Given the description of an element on the screen output the (x, y) to click on. 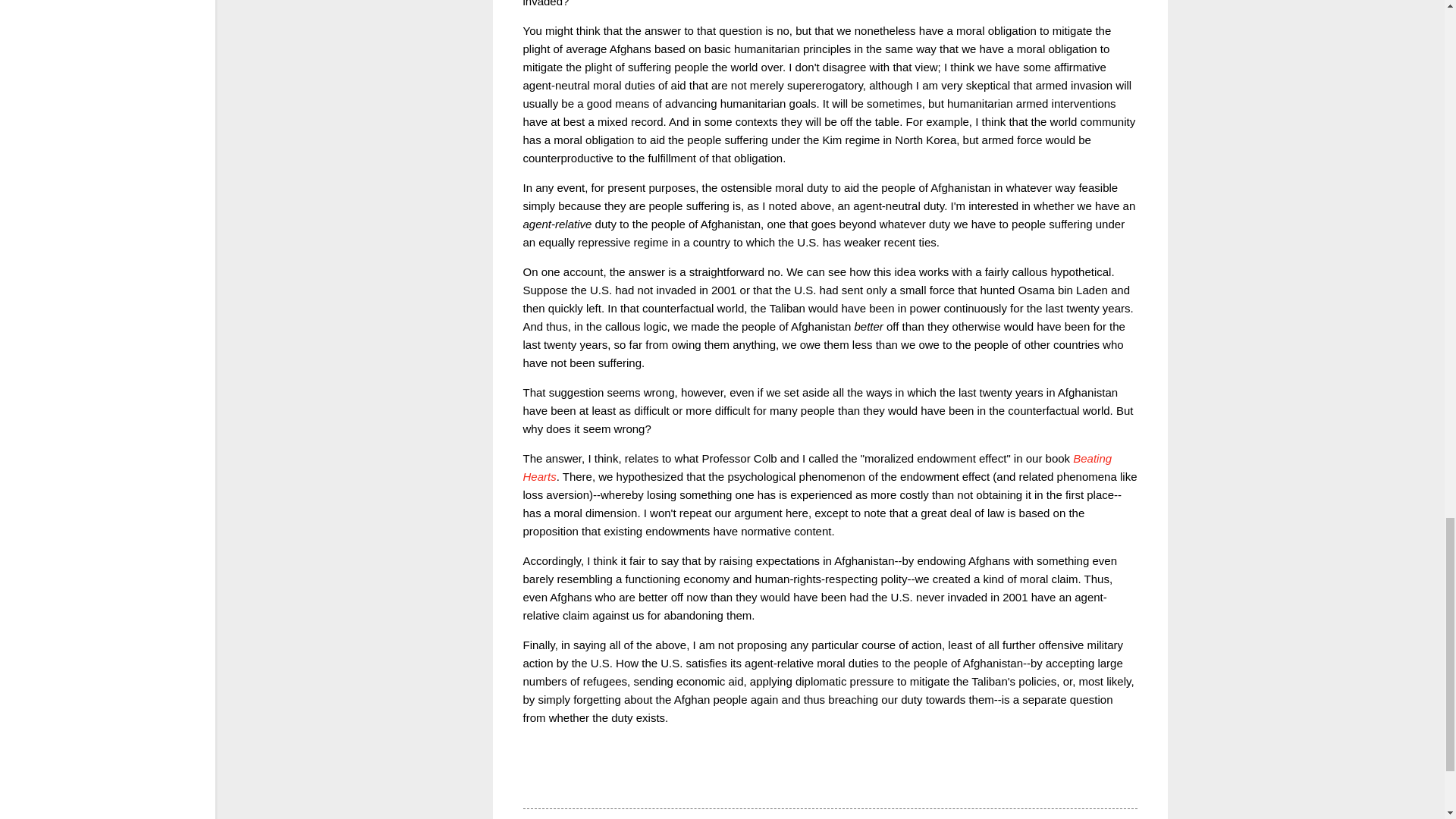
Beating Hearts (817, 467)
Email Post (562, 780)
